Given the description of an element on the screen output the (x, y) to click on. 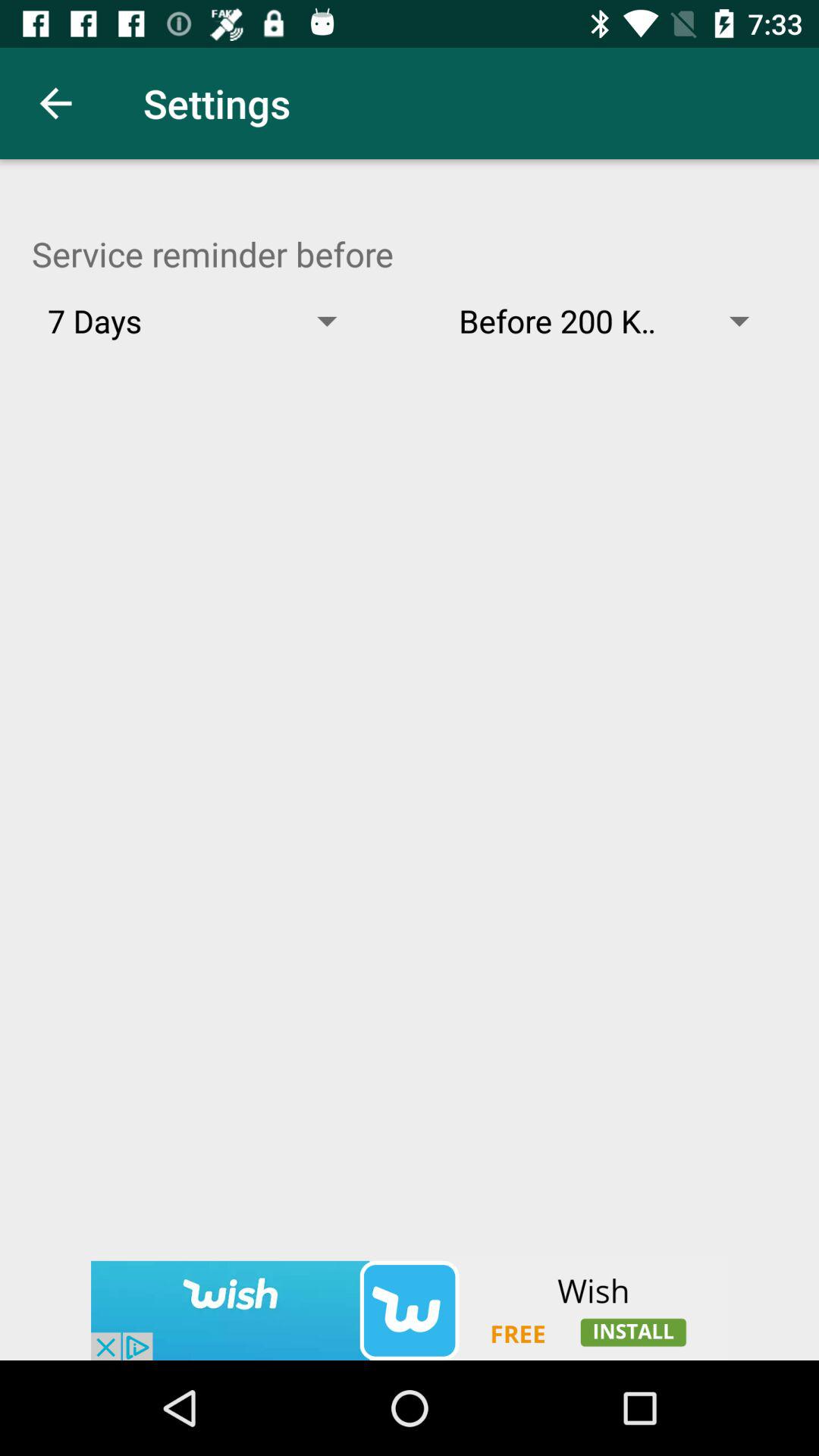
know about the advertisement (409, 1310)
